Given the description of an element on the screen output the (x, y) to click on. 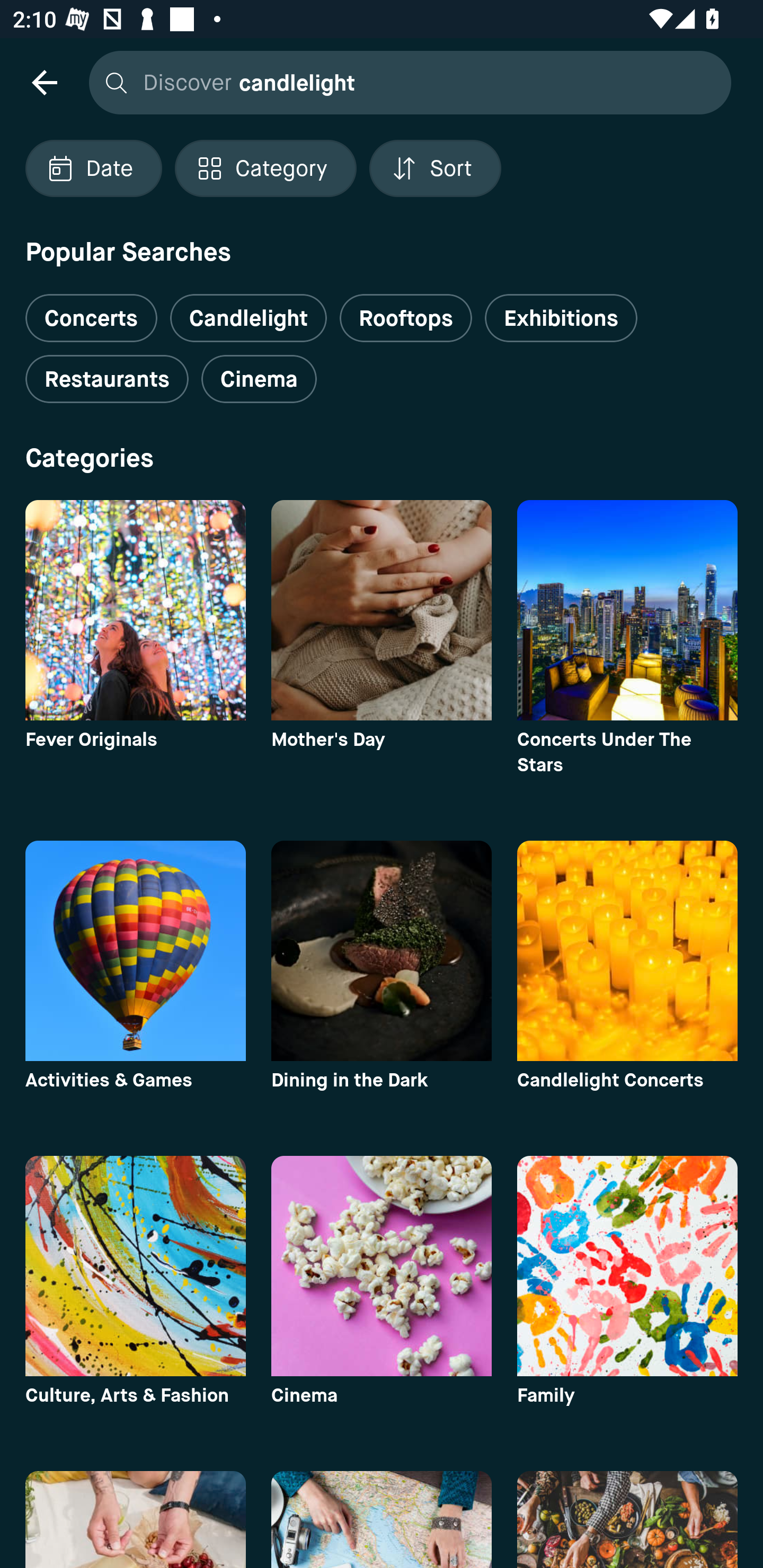
navigation icon (44, 81)
Discover candlelight (405, 81)
Localized description Date (93, 168)
Localized description Category (265, 168)
Localized description Sort (435, 168)
Concerts (91, 310)
Candlelight (248, 317)
Rooftops (405, 317)
Exhibitions (560, 317)
Restaurants (106, 379)
Cinema (258, 379)
category image (135, 609)
category image (381, 609)
category image (627, 609)
category image (135, 950)
category image (381, 950)
category image (627, 950)
category image (135, 1265)
category image (381, 1265)
category image (627, 1265)
